Given the description of an element on the screen output the (x, y) to click on. 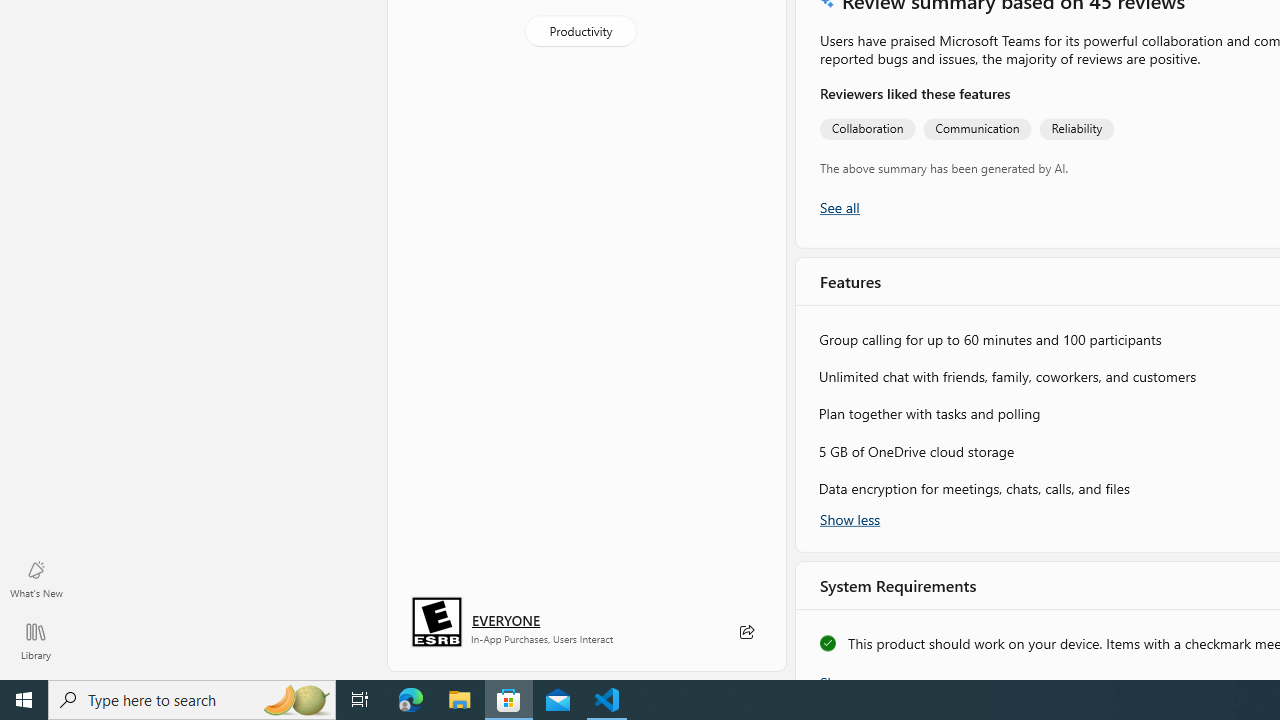
What's New (35, 578)
Show all ratings and reviews (838, 207)
Library (35, 640)
Show more (854, 674)
Show less (850, 518)
